Given the description of an element on the screen output the (x, y) to click on. 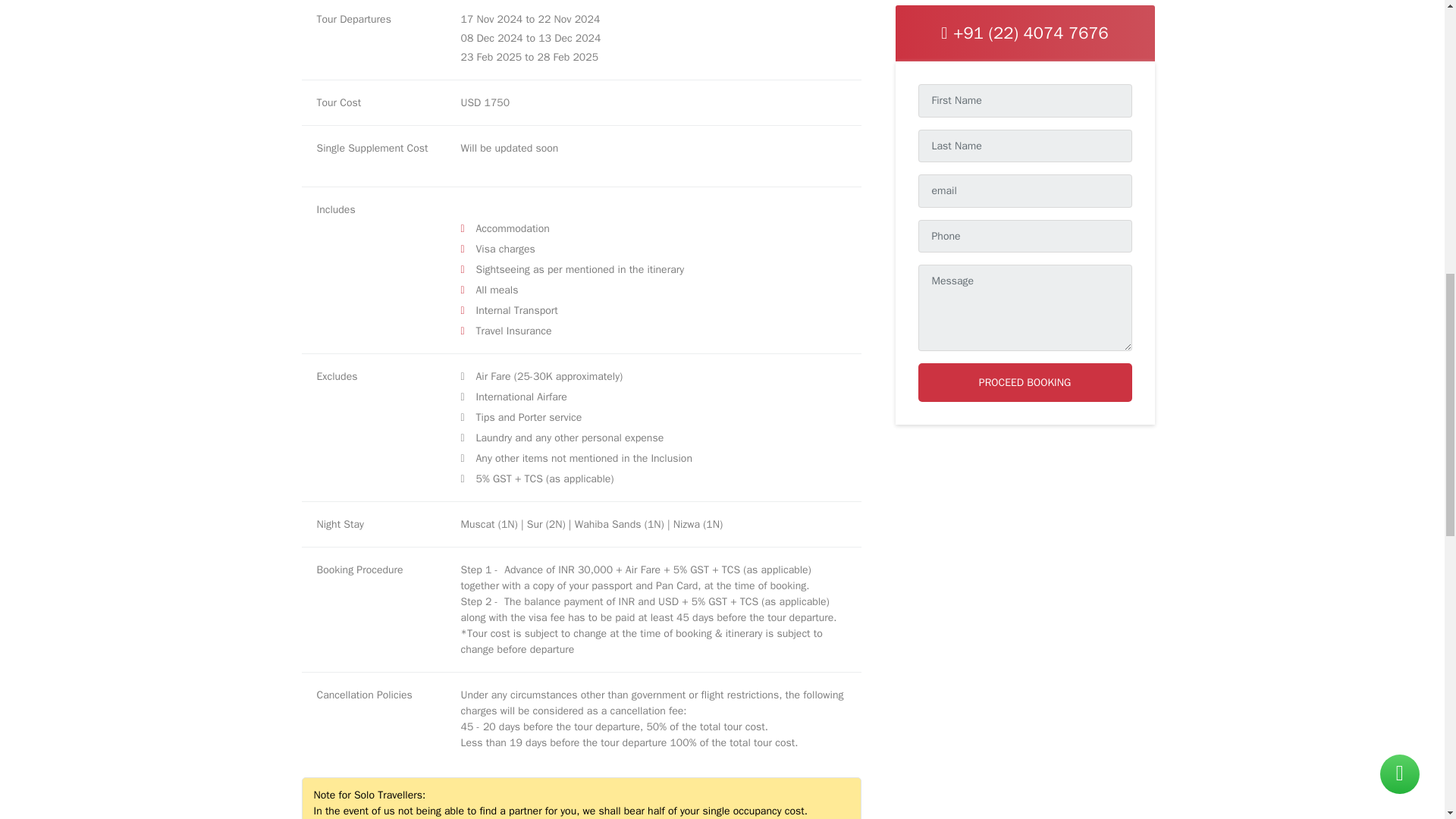
PROCEED BOOKING (1024, 4)
